Given the description of an element on the screen output the (x, y) to click on. 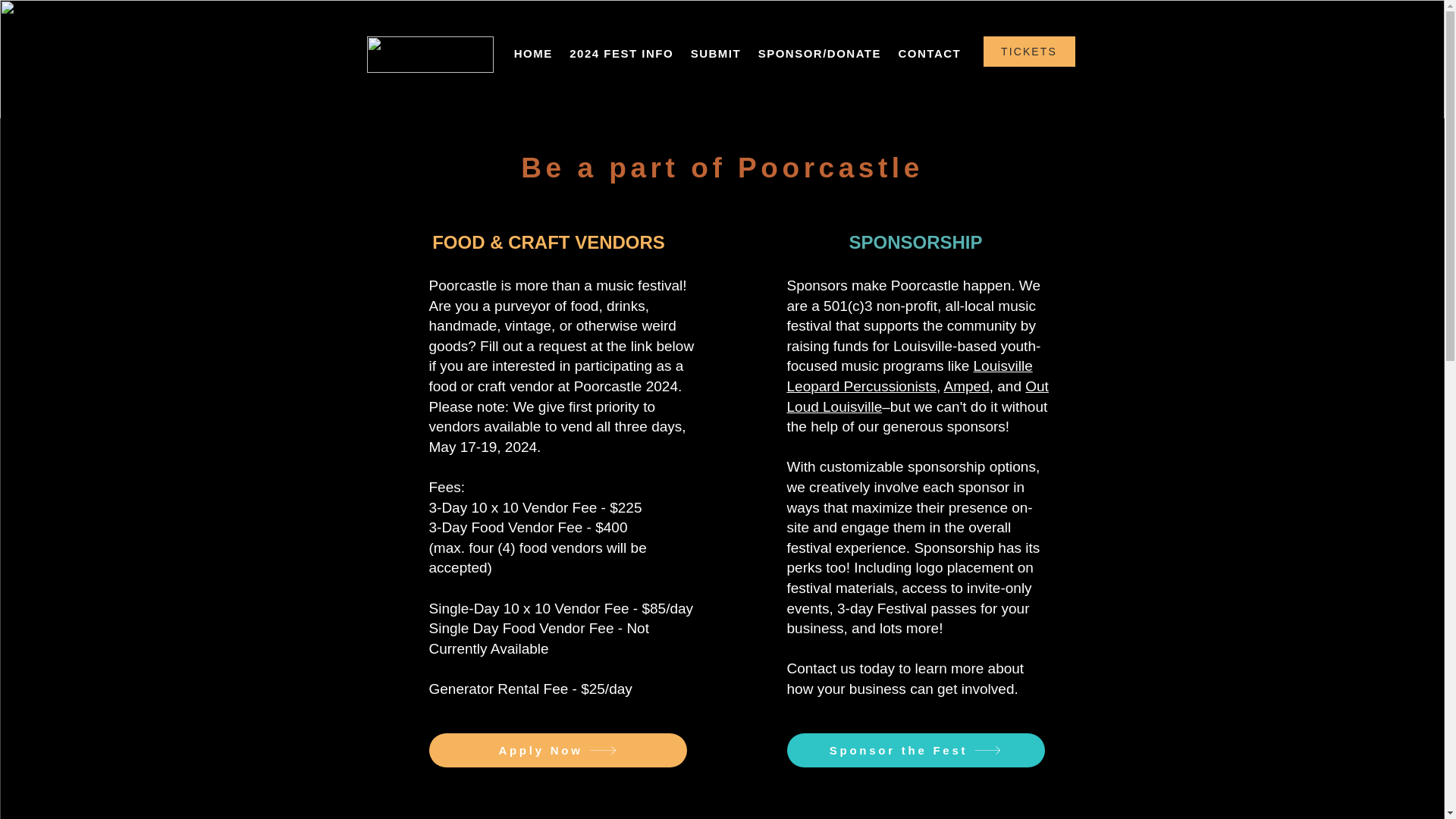
Out Loud Louisville (917, 396)
HOME (532, 53)
Louisville Leopard Percussionists (909, 375)
Sponsor the Fest (916, 750)
2024 FEST INFO (620, 53)
SUBMIT (715, 53)
Amped (966, 385)
CONTACT (929, 53)
TICKETS (1028, 51)
Apply Now (558, 750)
